Given the description of an element on the screen output the (x, y) to click on. 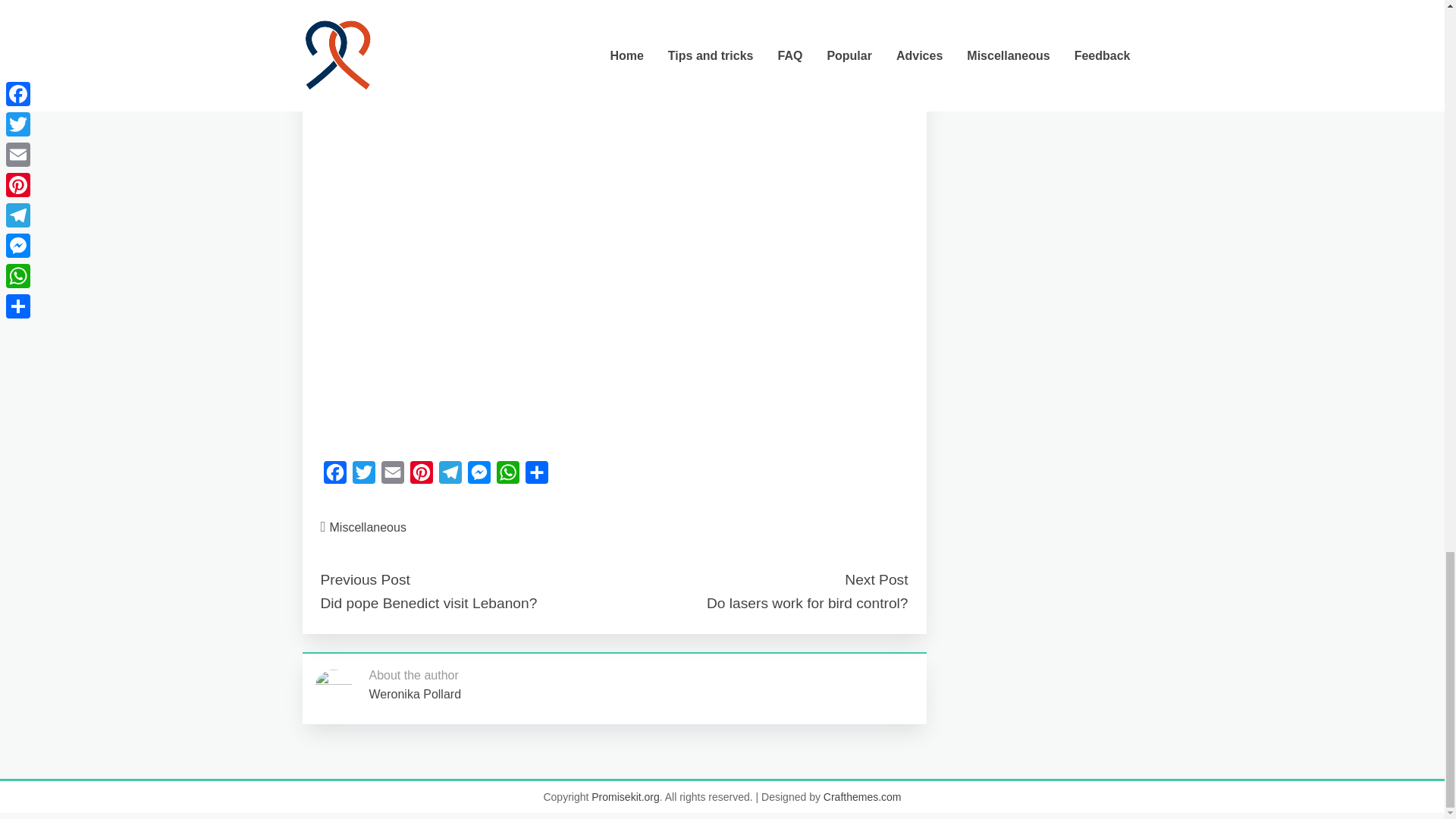
Next Post (875, 579)
Pinterest (420, 476)
Pinterest (420, 476)
WhatsApp (507, 476)
Do lasers work for bird control? (807, 602)
Twitter (363, 476)
Facebook (334, 476)
Previous Post (364, 579)
Did pope Benedict visit Lebanon? (428, 602)
Telegram (449, 476)
